Given the description of an element on the screen output the (x, y) to click on. 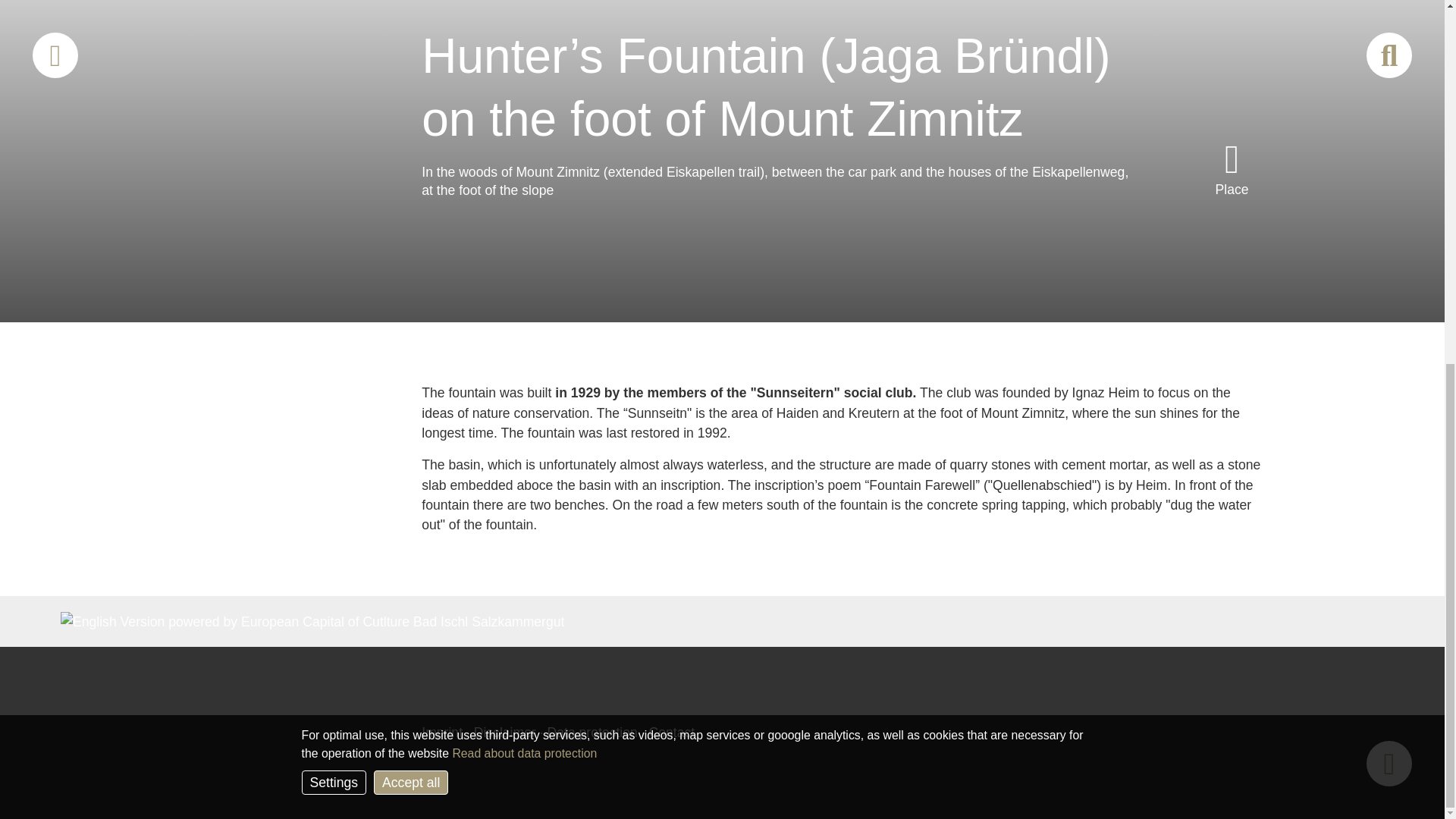
Accept all (411, 131)
Read about data protection (523, 102)
Contact (672, 732)
Data protection (592, 732)
Imprint (442, 732)
Disclaimer (504, 732)
Settings (333, 131)
